Given the description of an element on the screen output the (x, y) to click on. 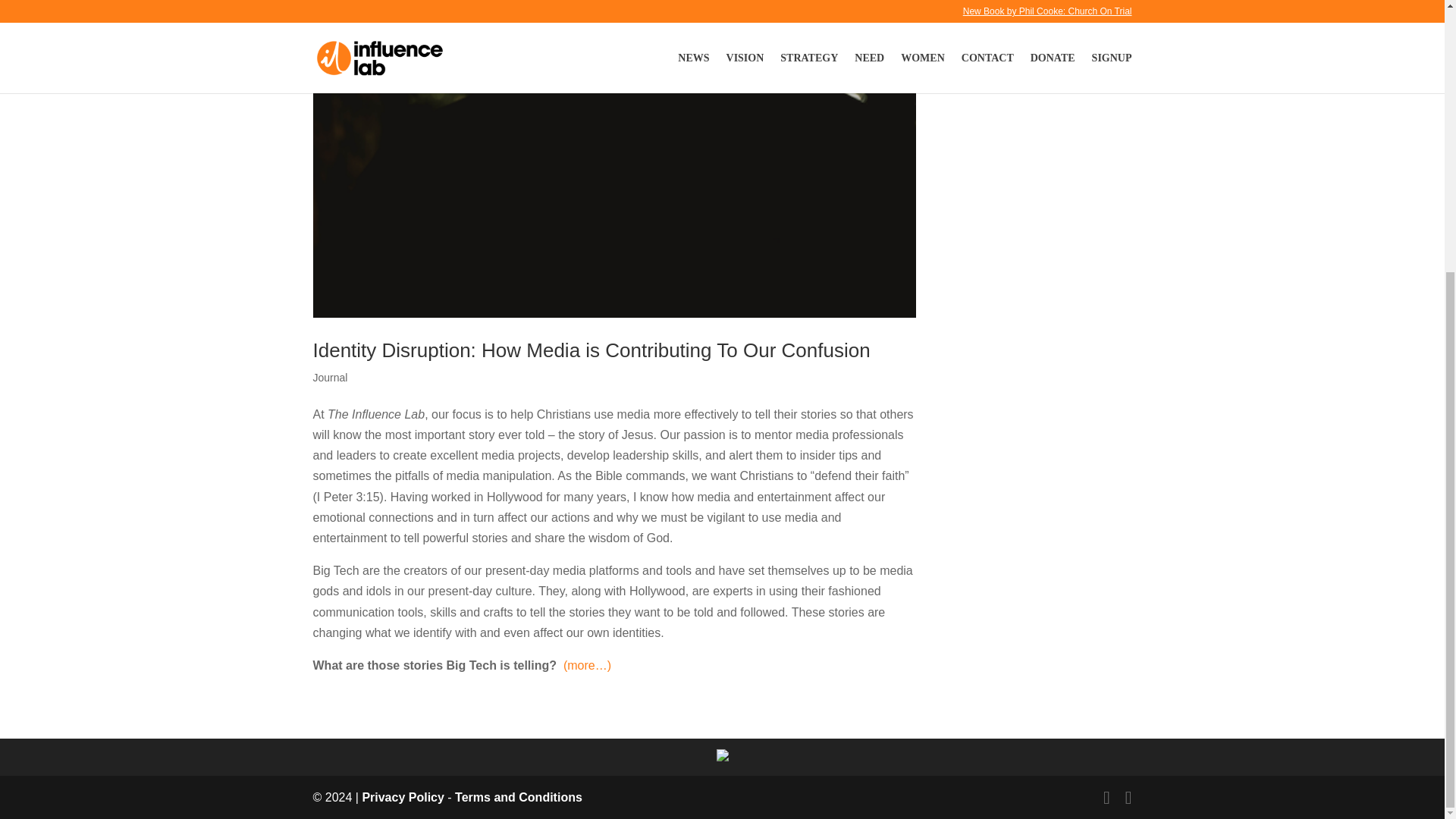
Privacy Policy (402, 797)
Terms and Conditions (518, 797)
Journal (330, 377)
